Given the description of an element on the screen output the (x, y) to click on. 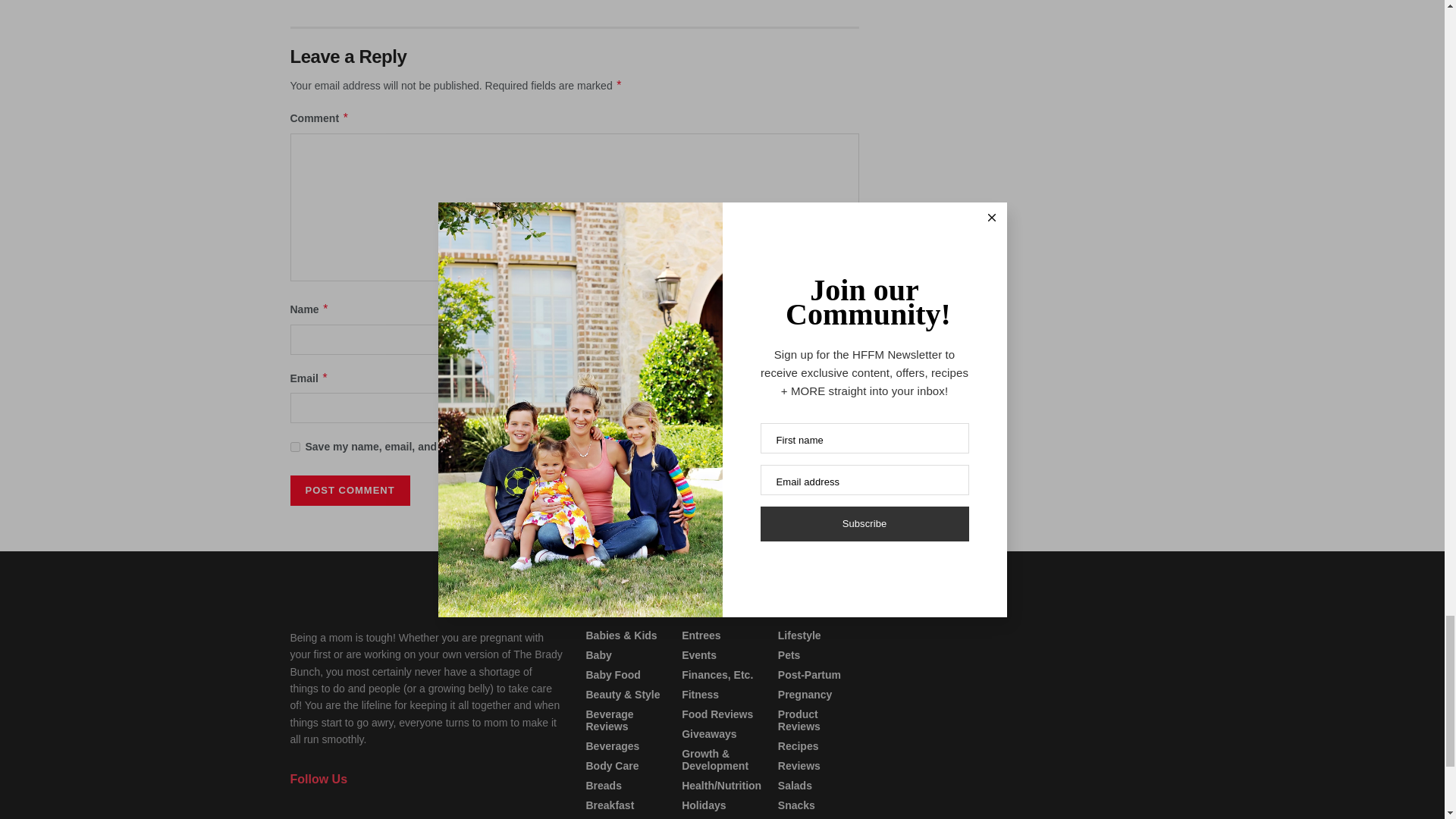
yes (294, 447)
Post Comment (349, 490)
